Given the description of an element on the screen output the (x, y) to click on. 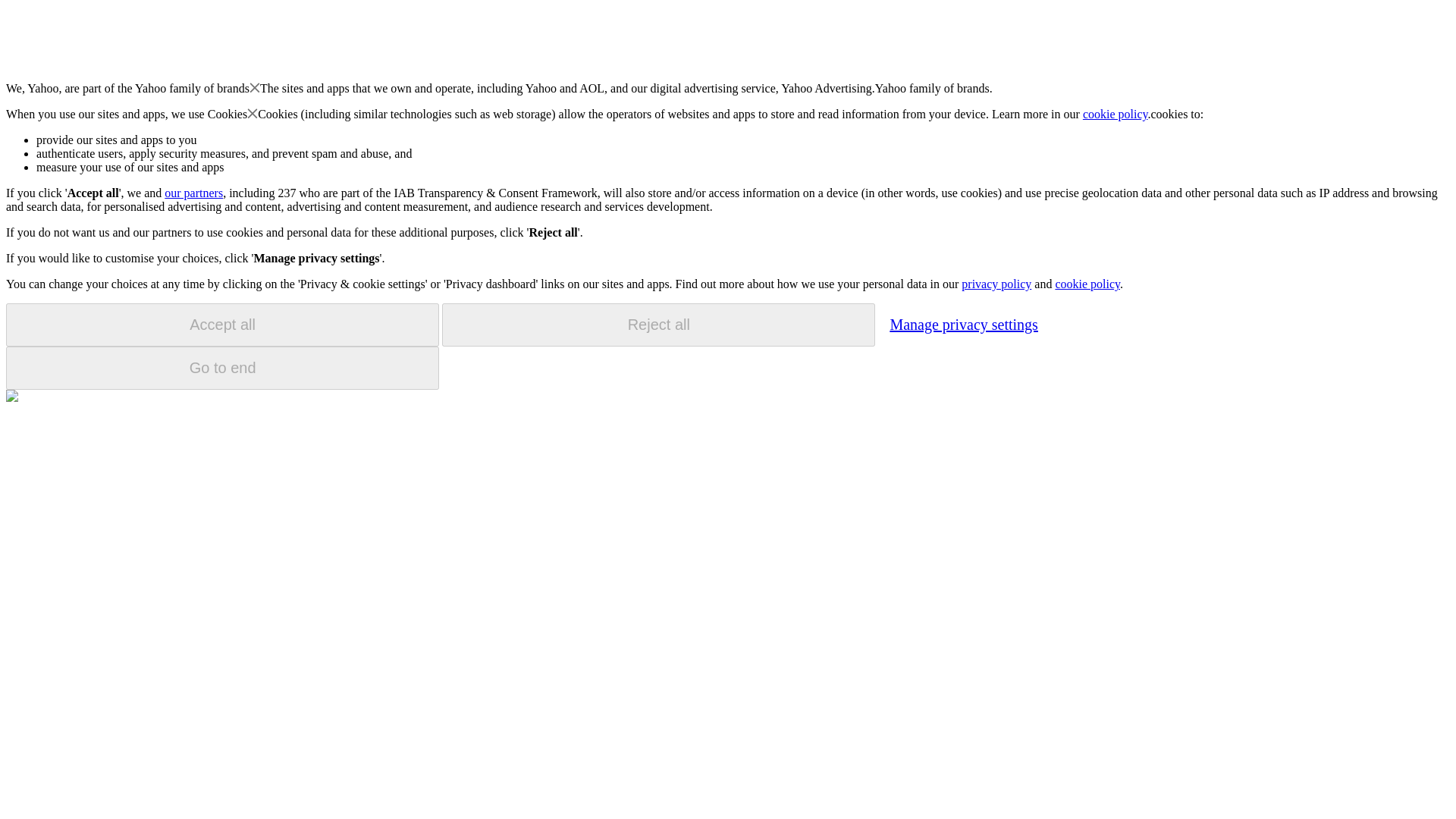
cookie policy (1086, 283)
our partners (193, 192)
Manage privacy settings (963, 323)
cookie policy (1115, 113)
Go to end (222, 367)
Accept all (222, 324)
Reject all (658, 324)
privacy policy (995, 283)
